Given the description of an element on the screen output the (x, y) to click on. 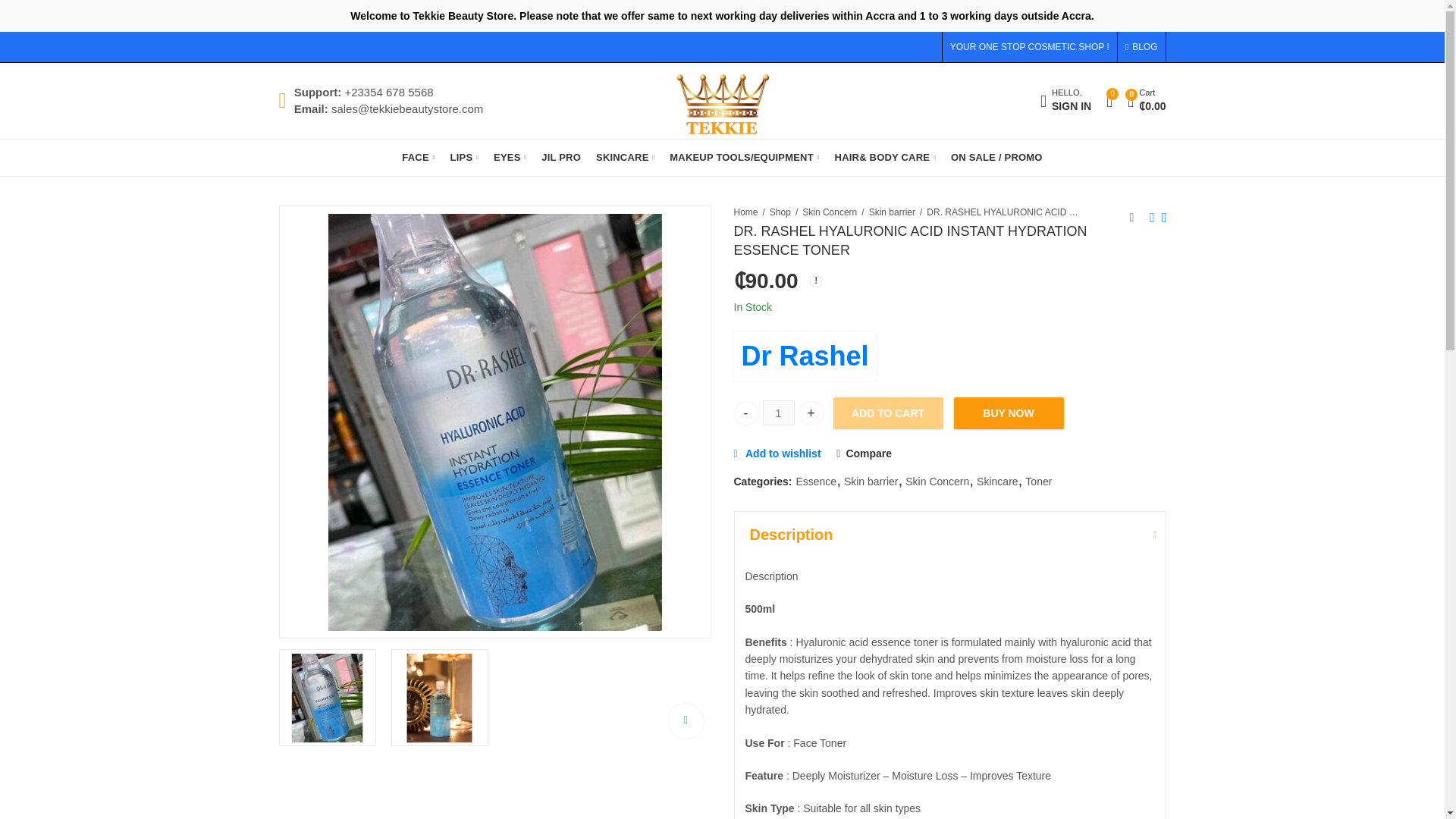
JIL PRO (561, 157)
Qty (778, 412)
FACE (418, 157)
- (745, 413)
22CADC1F-5119-4E0D-B40D-900EC94E0961 (1065, 100)
1 (439, 697)
7F0ACDF5-571F-4FC6-85EF-BFC58316DF8A (778, 412)
LIPS (327, 697)
BLOG (464, 157)
